Given the description of an element on the screen output the (x, y) to click on. 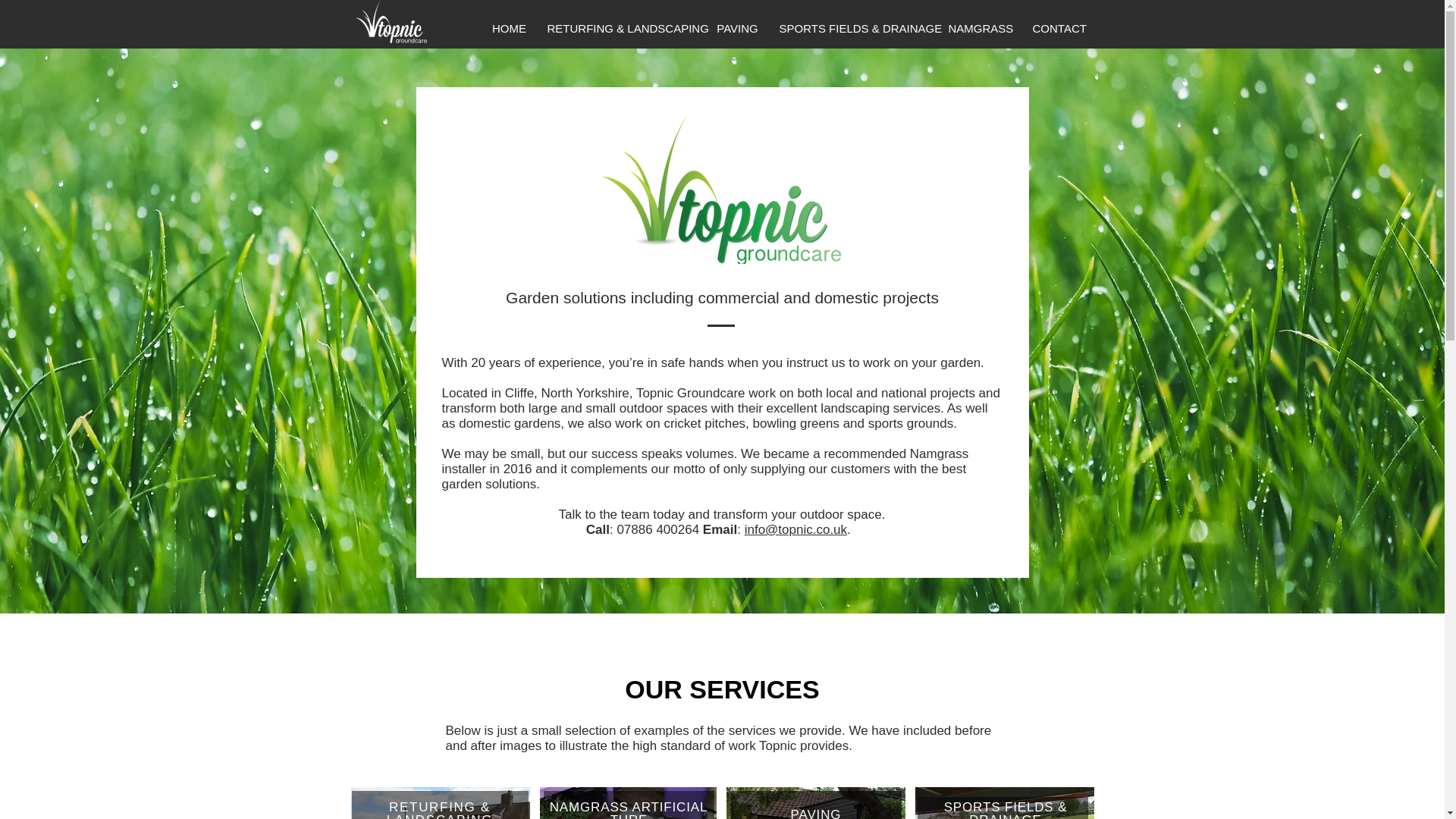
NAMGRASS ARTIFICIAL TURF (628, 809)
PAVING (815, 813)
PAVING (736, 27)
HOME (508, 27)
RICHARD TOPPING (740, 390)
CONTACT (1057, 27)
NAMGRASS (981, 27)
